Given the description of an element on the screen output the (x, y) to click on. 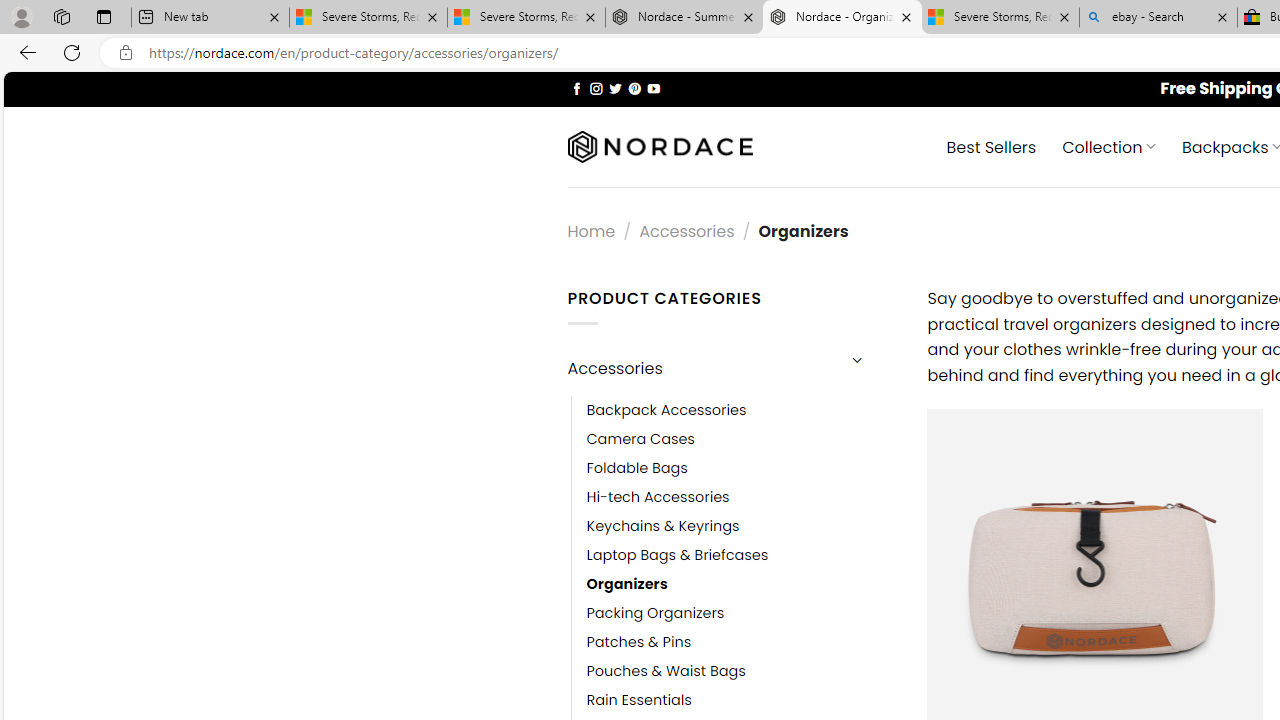
Foldable Bags (742, 467)
Patches & Pins (639, 642)
Follow on Facebook (576, 88)
  Best Sellers (990, 146)
Rain Essentials (742, 700)
Laptop Bags & Briefcases (677, 555)
Follow on Instagram (596, 88)
Camera Cases (640, 439)
Personal Profile (21, 16)
Laptop Bags & Briefcases (742, 555)
Nordace - Summer Adventures 2024 (683, 17)
Home (591, 230)
Tab actions menu (104, 16)
